Given the description of an element on the screen output the (x, y) to click on. 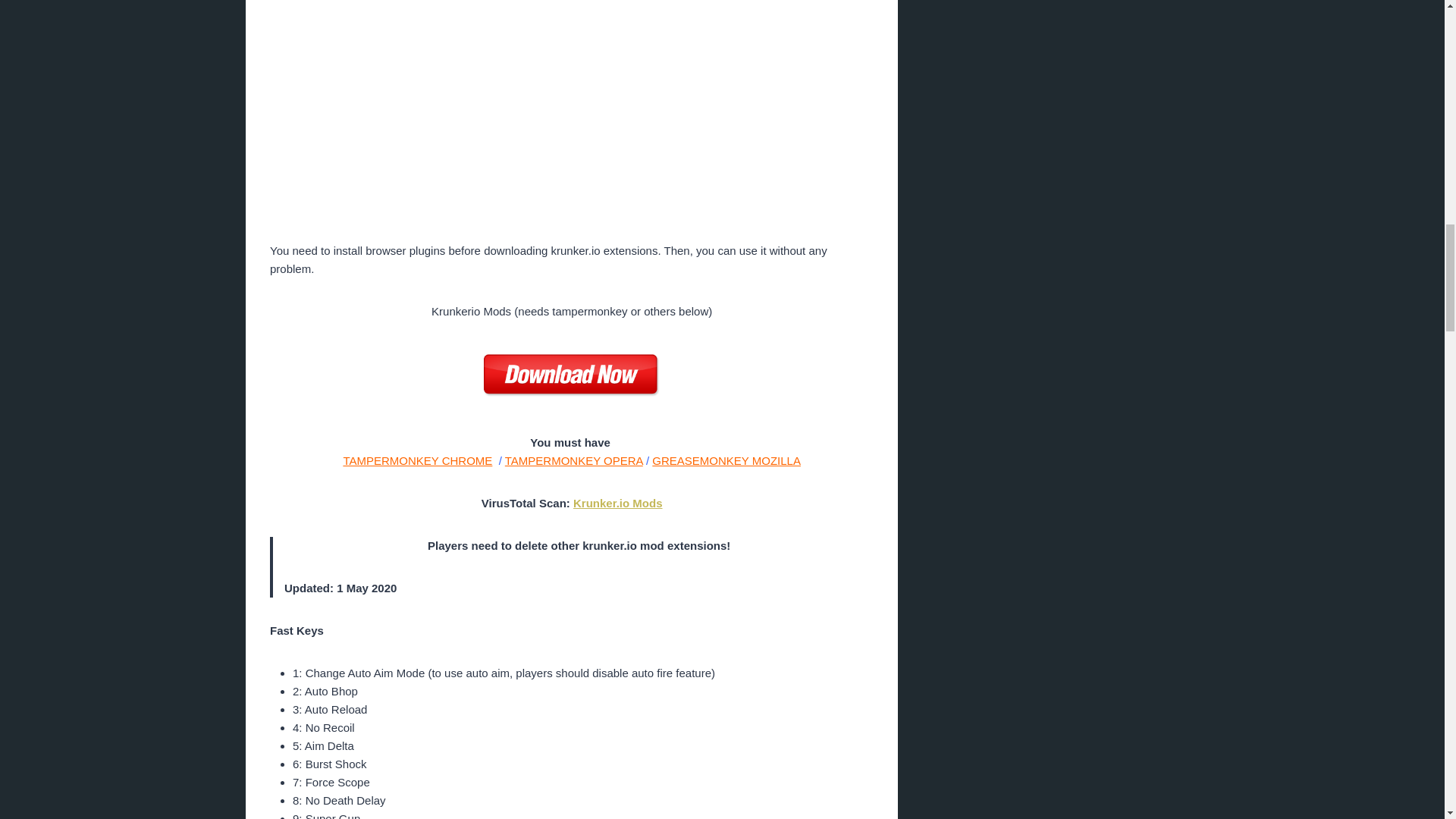
Krunker.io Mods (617, 502)
TAMPERMONKEY CHROME (417, 460)
TAMPERMONKEY OPERA (574, 460)
GREASEMONKEY MOZILLA (726, 460)
